Given the description of an element on the screen output the (x, y) to click on. 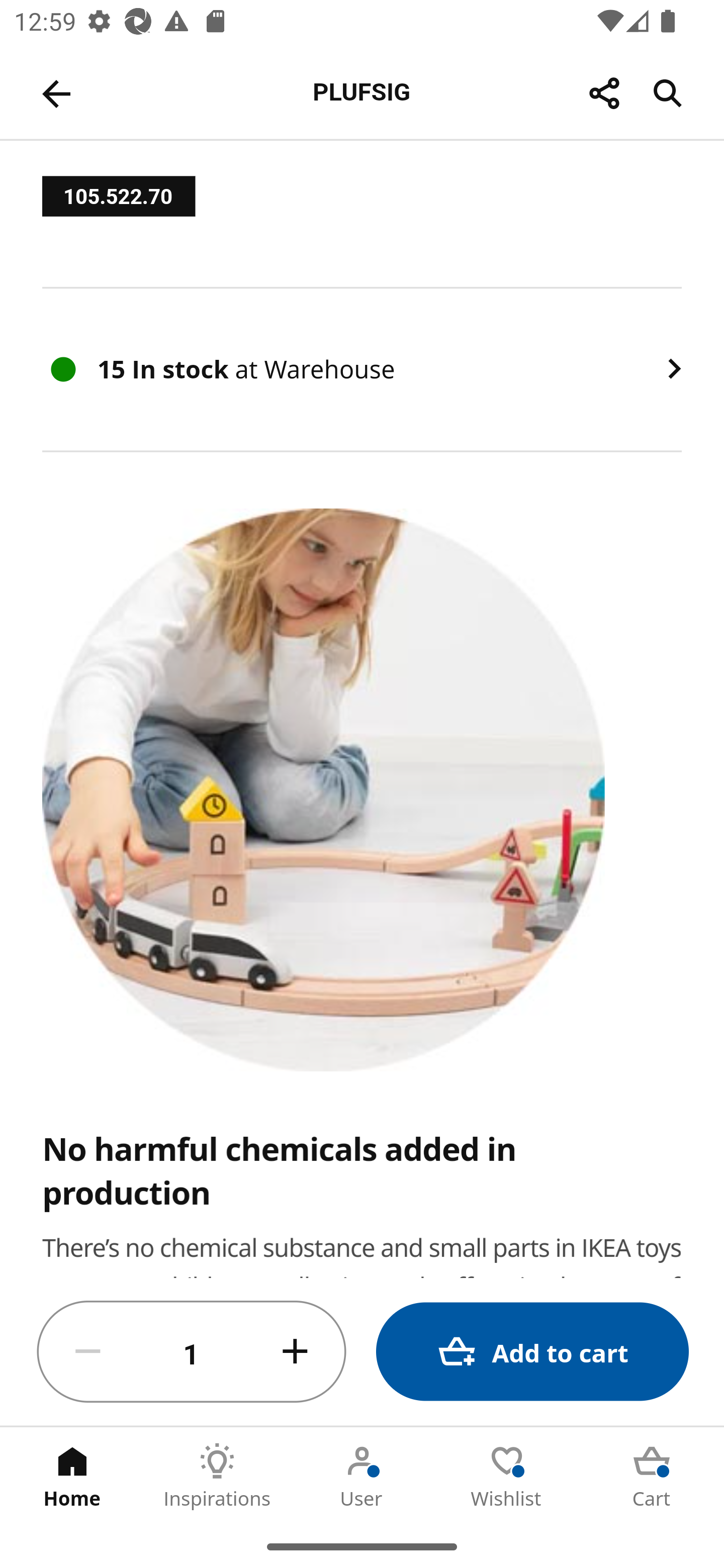
15 In stock at Warehouse (361, 369)
Add to cart (531, 1352)
1 (191, 1352)
Home
Tab 1 of 5 (72, 1476)
Inspirations
Tab 2 of 5 (216, 1476)
User
Tab 3 of 5 (361, 1476)
Wishlist
Tab 4 of 5 (506, 1476)
Cart
Tab 5 of 5 (651, 1476)
